Given the description of an element on the screen output the (x, y) to click on. 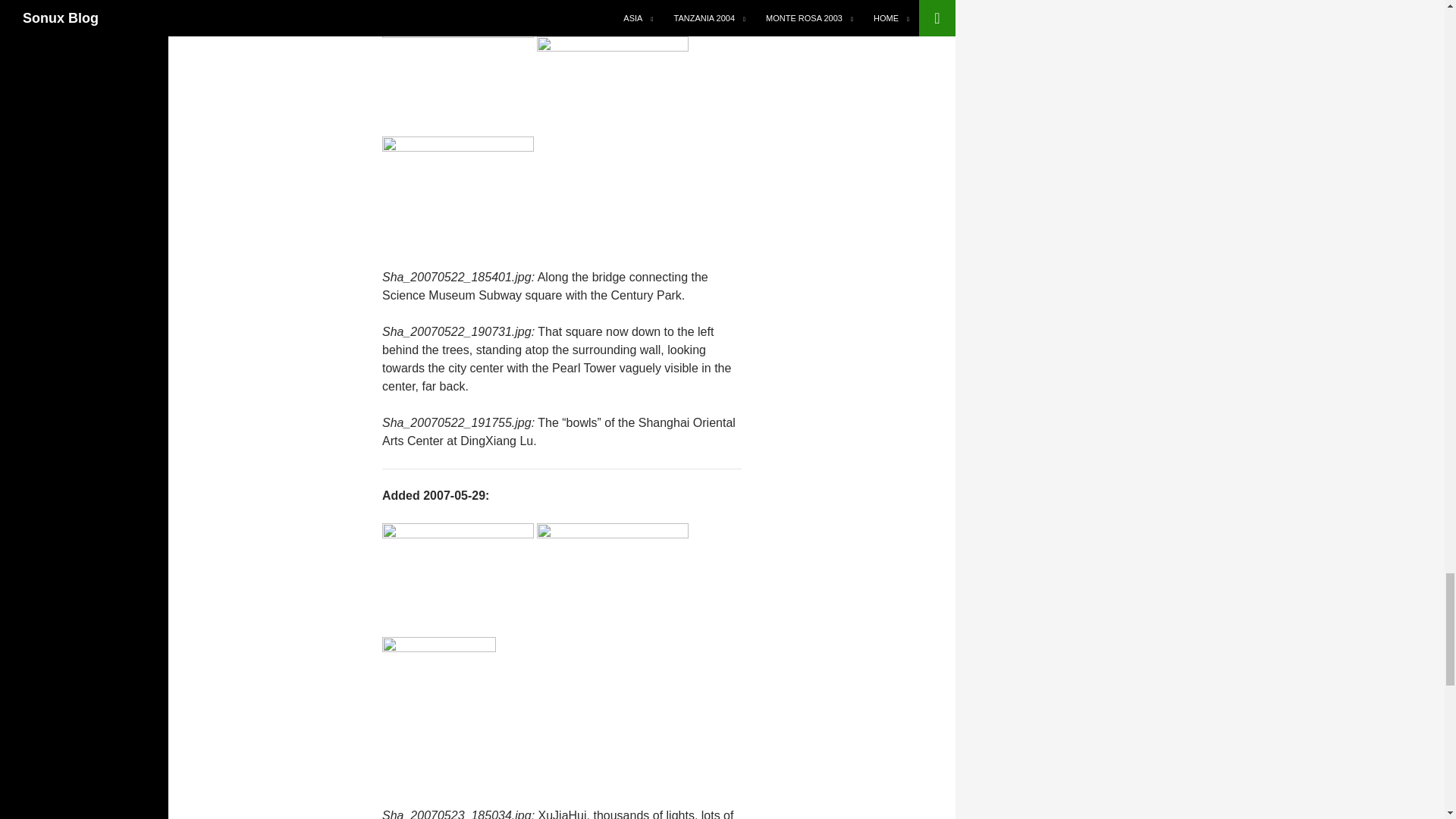
Window Cleaning (438, 711)
The Bowls (457, 192)
Late Light Show (612, 78)
